Given the description of an element on the screen output the (x, y) to click on. 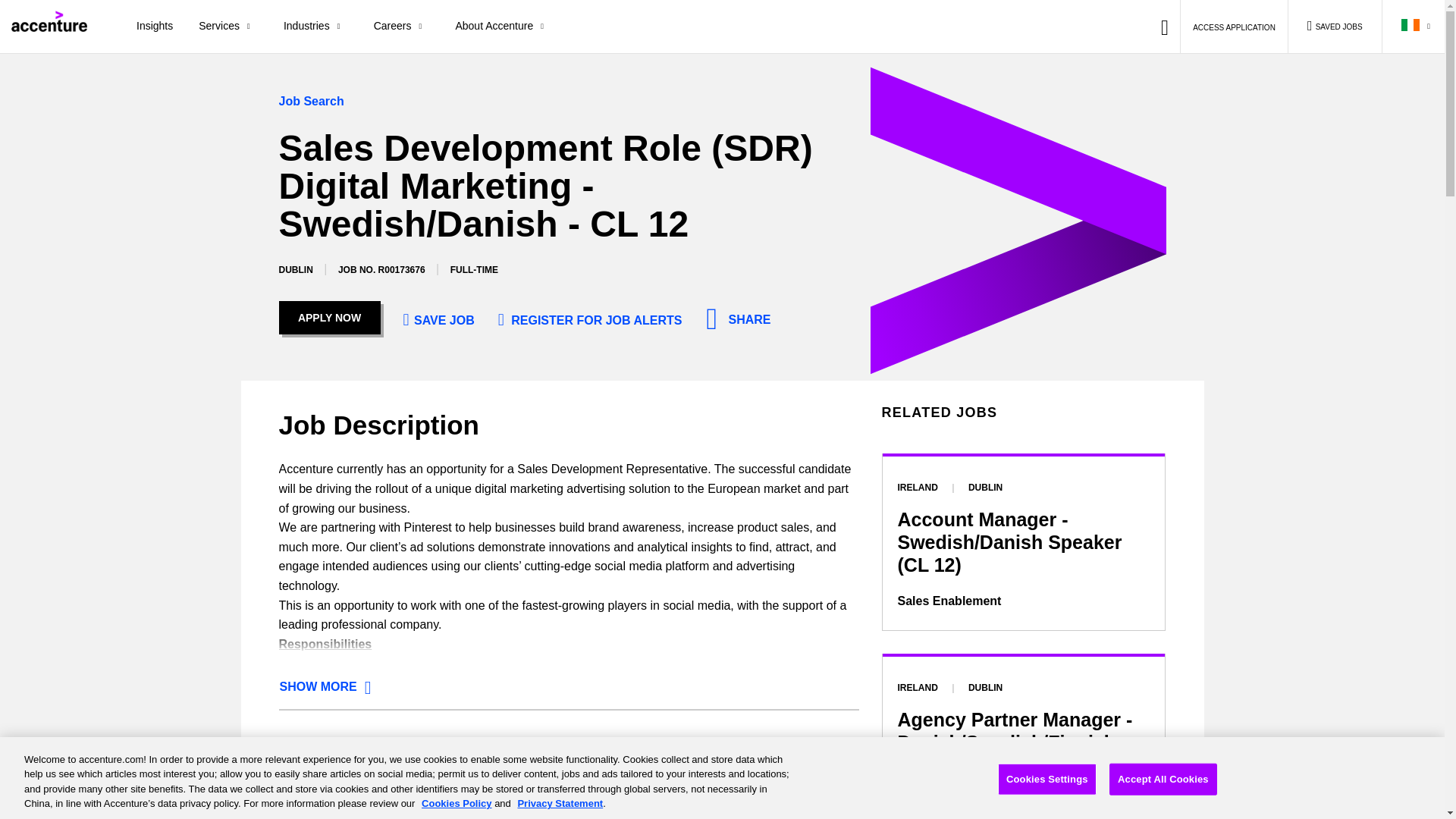
Insights (154, 26)
Industries (315, 26)
Services (228, 26)
